Given the description of an element on the screen output the (x, y) to click on. 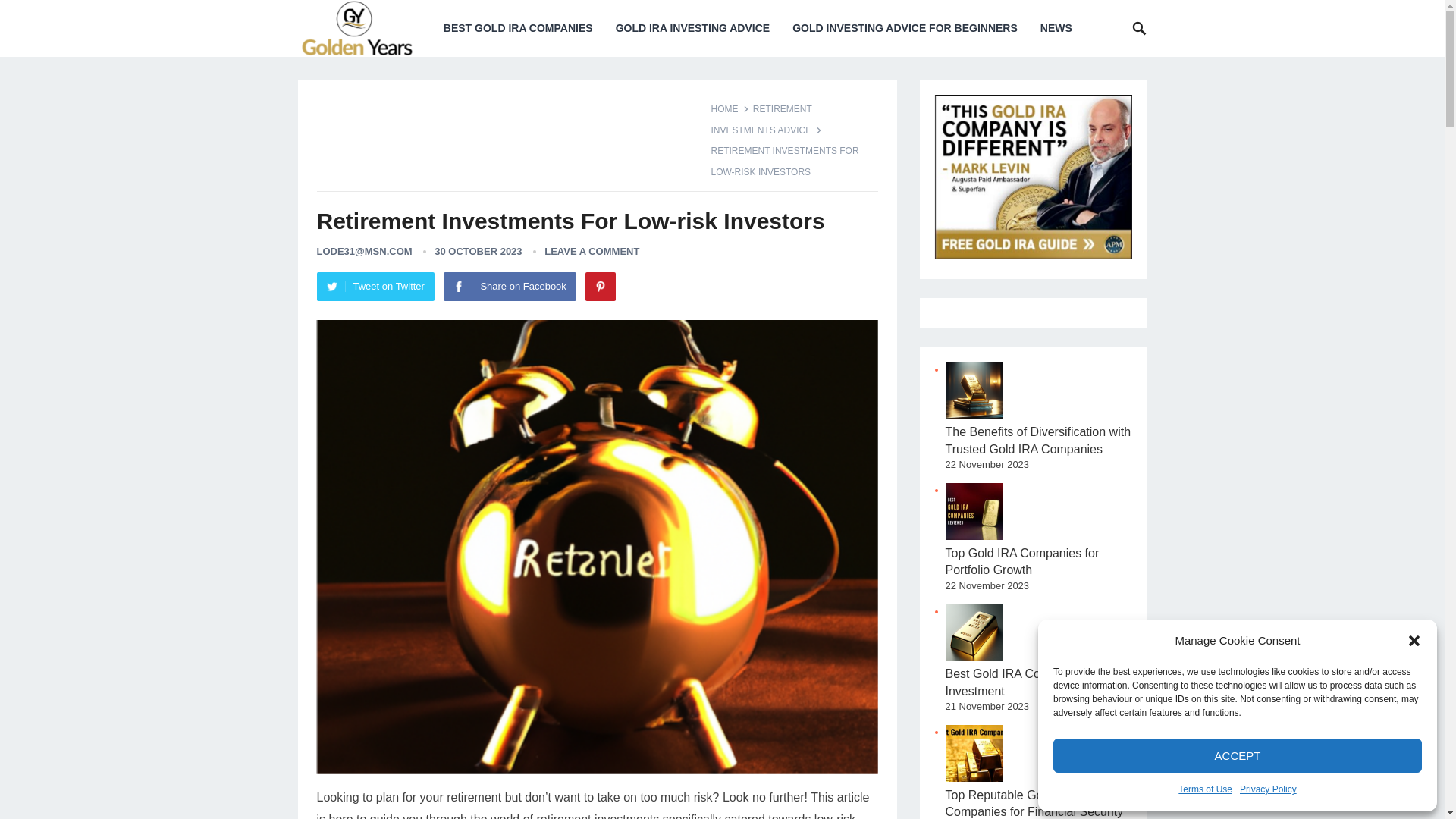
HOME (730, 109)
Privacy Policy (1268, 790)
LEAVE A COMMENT (591, 251)
GOLD INVESTING ADVICE FOR BEGINNERS (904, 28)
Tweet on Twitter (375, 286)
ACCEPT (1237, 755)
NEWS (1056, 28)
Terms of Use (1204, 790)
RETIREMENT INVESTMENTS ADVICE (766, 119)
GOLD IRA INVESTING ADVICE (692, 28)
